Given the description of an element on the screen output the (x, y) to click on. 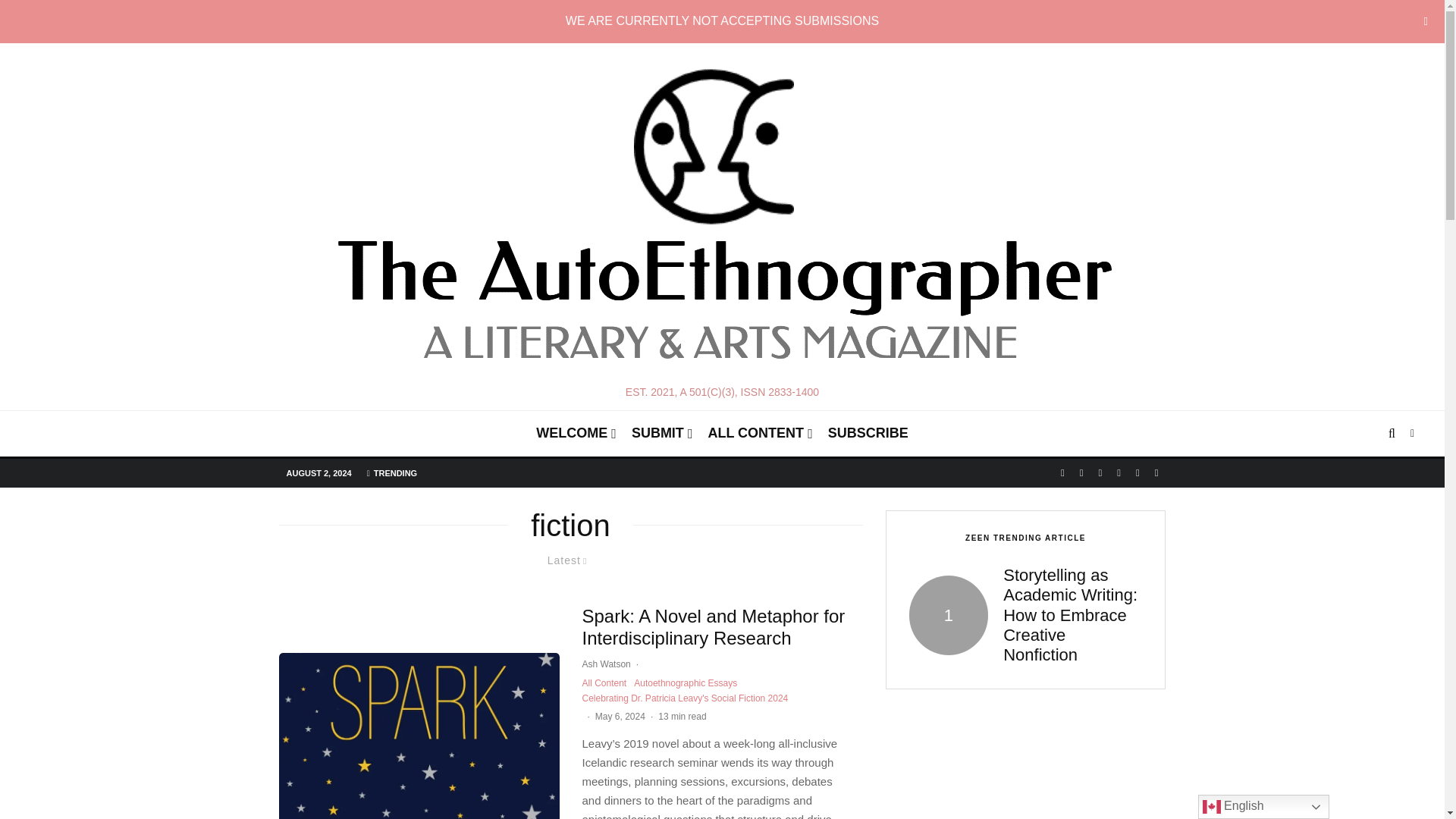
Spark cover (419, 735)
ALL CONTENT (759, 433)
SUBMIT (662, 433)
WELCOME (576, 433)
Chagall painting couple kissing (948, 615)
